Given the description of an element on the screen output the (x, y) to click on. 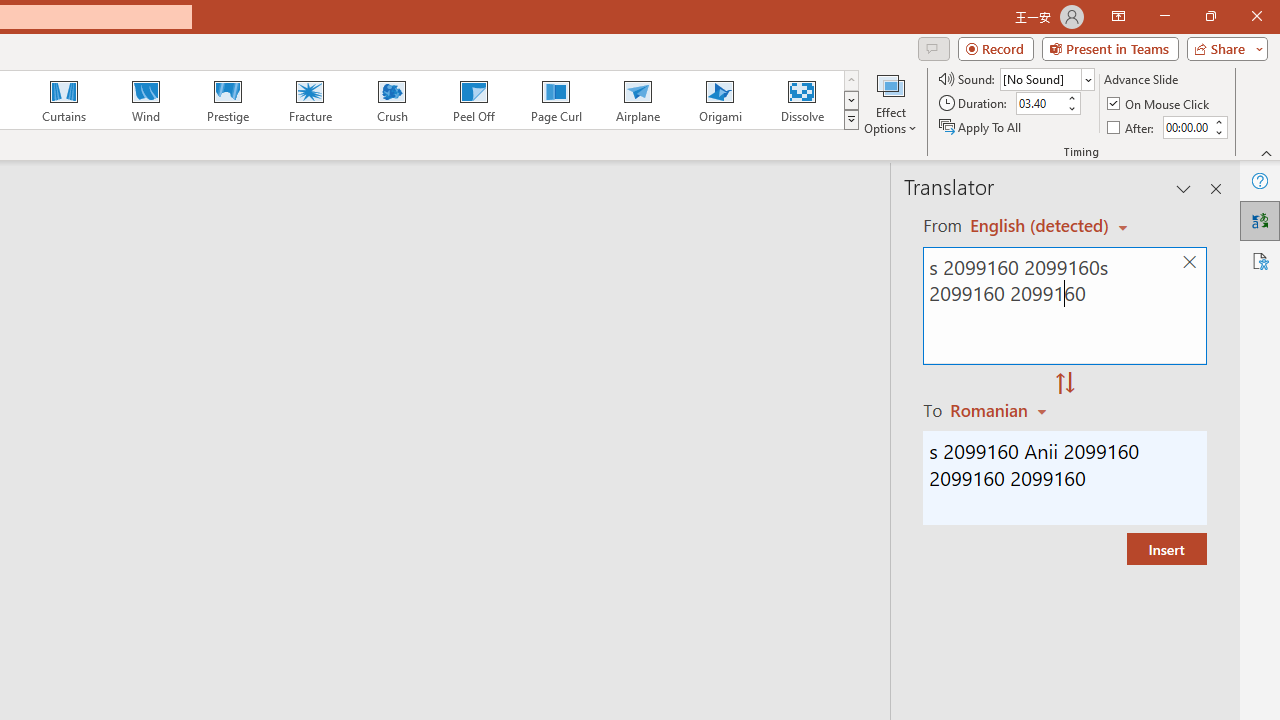
Sound (1046, 78)
On Mouse Click (1159, 103)
Transition Effects (850, 120)
Romanian (1001, 409)
Apply To All (981, 126)
More (1218, 121)
Dissolve (802, 100)
Page Curl (555, 100)
